Given the description of an element on the screen output the (x, y) to click on. 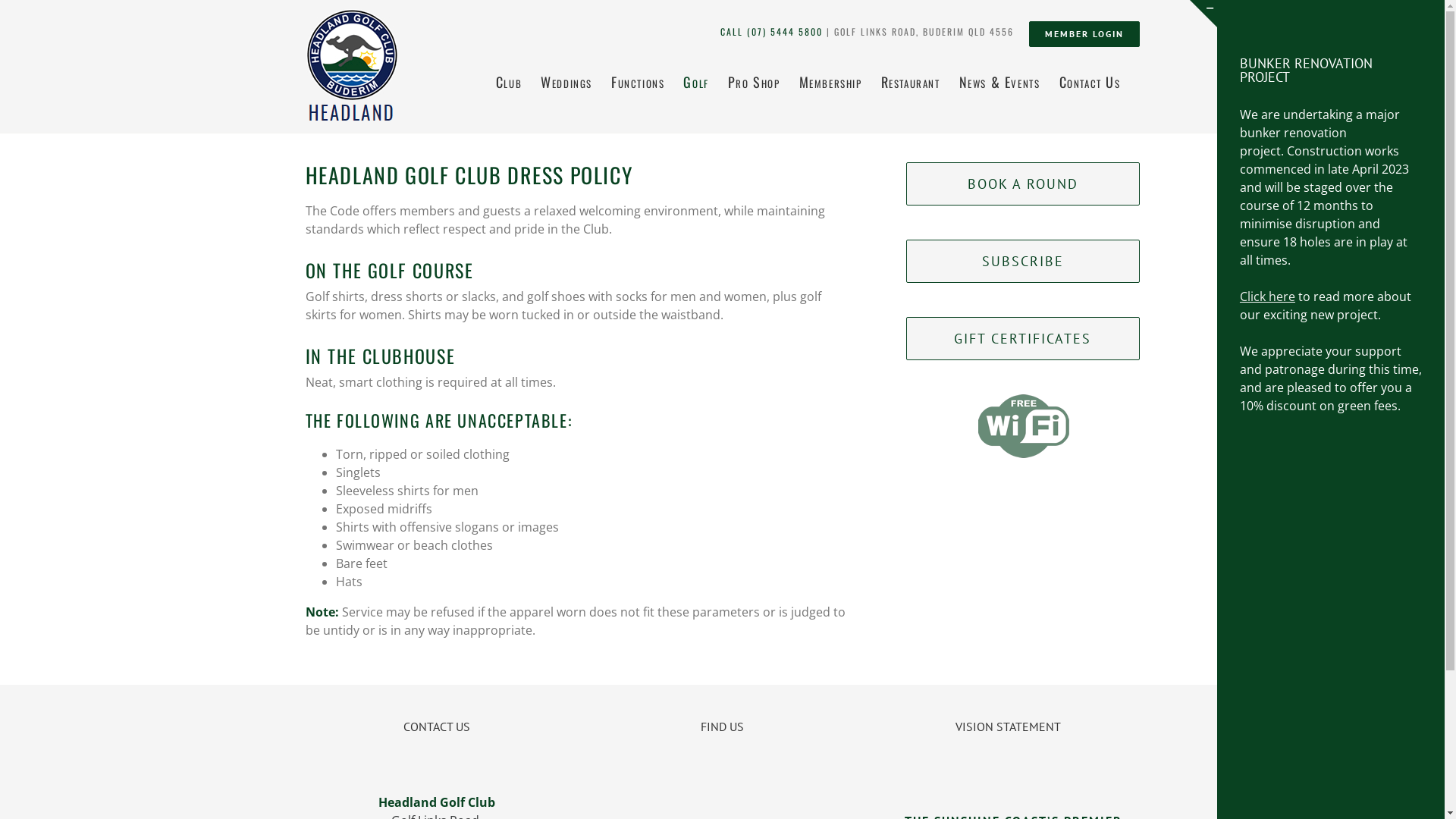
Weddings Element type: text (566, 80)
Functions Element type: text (637, 80)
GIFT CERTIFICATES Element type: text (1022, 338)
News & Events Element type: text (999, 80)
Membership Element type: text (830, 80)
MEMBER LOGIN Element type: text (1083, 34)
Golf Element type: text (695, 80)
Contact Us Element type: text (1089, 80)
Toggle Sliding Bar Area Element type: text (1203, 13)
Click here Element type: text (1267, 296)
Restaurant Element type: text (910, 80)
CALL (07) 5444 5800 Element type: text (771, 31)
Club Element type: text (508, 80)
Pro Shop Element type: text (754, 80)
SUBSCRIBE Element type: text (1022, 260)
BOOK A ROUND Element type: text (1022, 183)
